Given the description of an element on the screen output the (x, y) to click on. 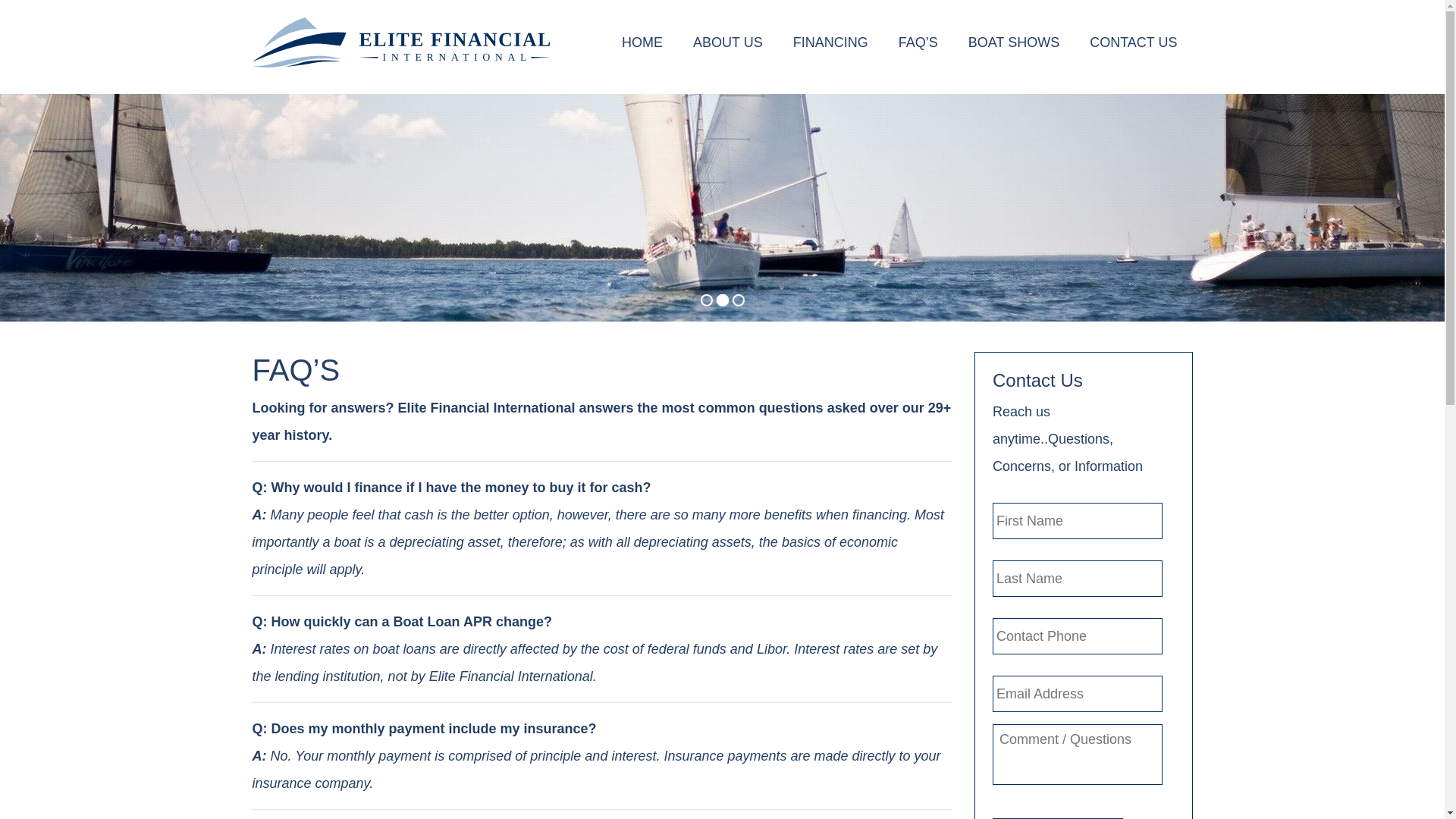
FINANCING (830, 42)
CONTACT US (1133, 42)
ABOUT US (727, 42)
HOME (642, 42)
BOAT SHOWS (1013, 42)
